Given the description of an element on the screen output the (x, y) to click on. 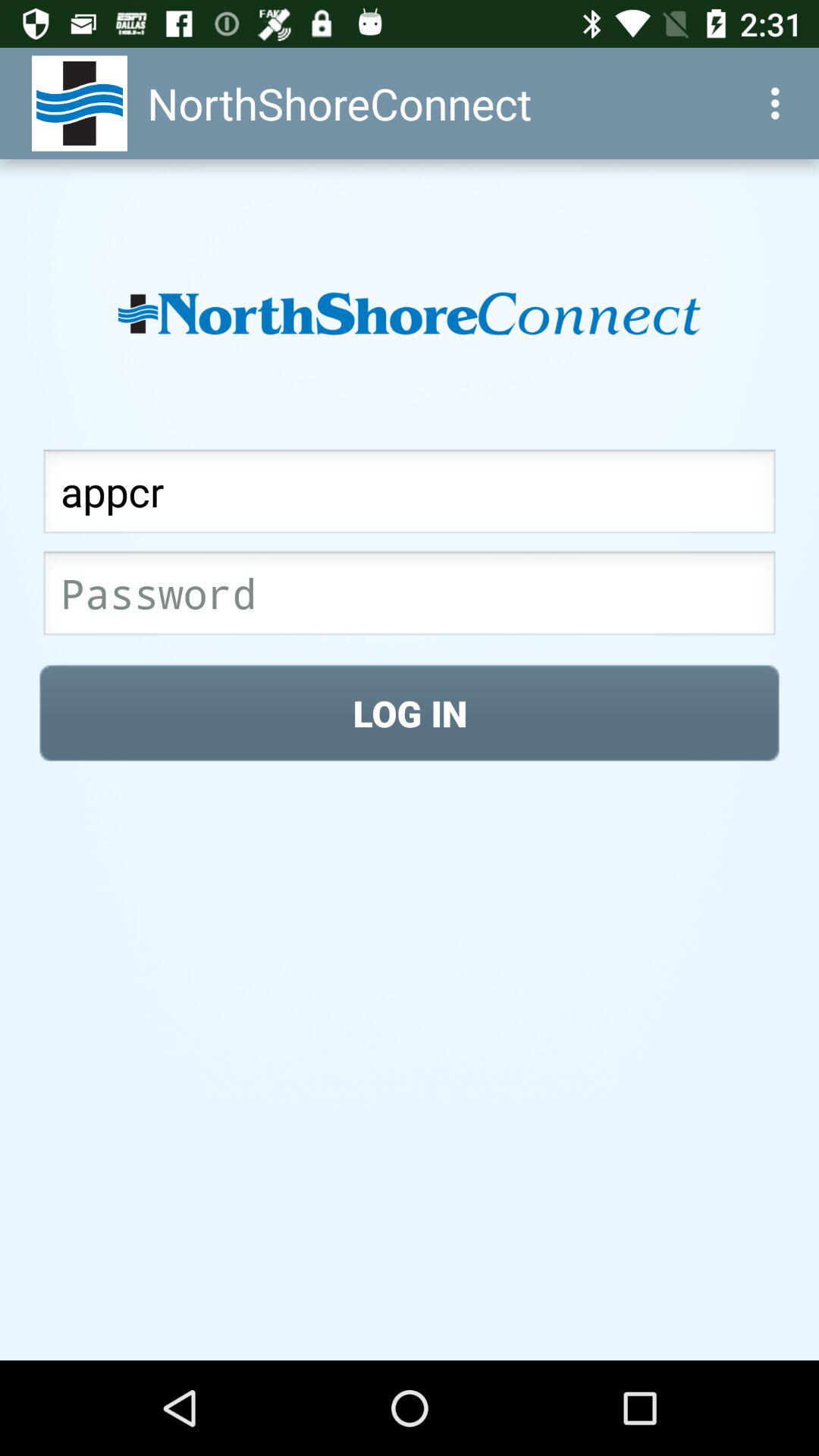
choose item below the appcr item (409, 597)
